Given the description of an element on the screen output the (x, y) to click on. 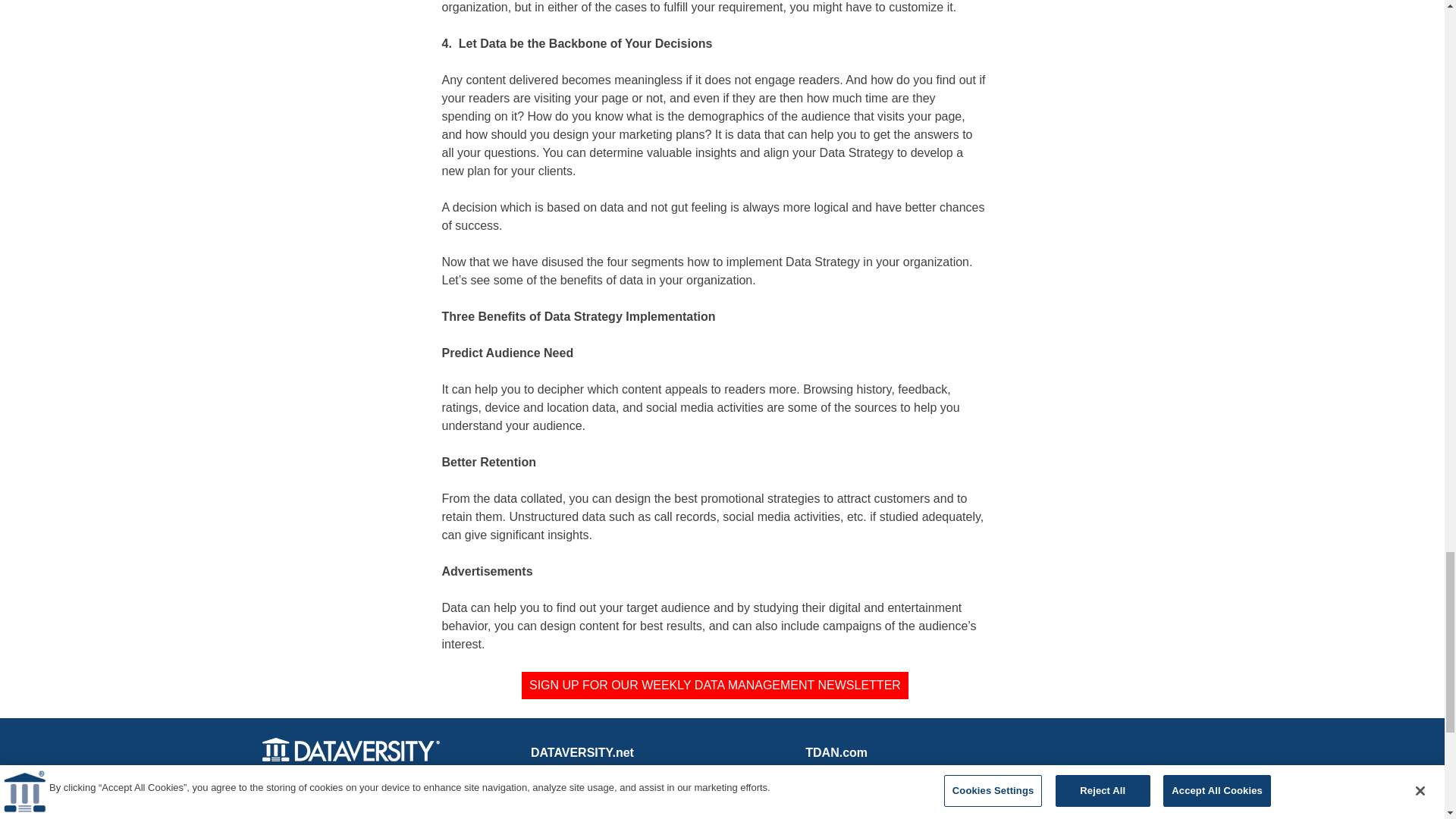
SIGN UP FOR OUR WEEKLY DATA MANAGEMENT NEWSLETTER (714, 685)
DATAVERSITY.net (582, 752)
TDAN.com (836, 752)
